Given the description of an element on the screen output the (x, y) to click on. 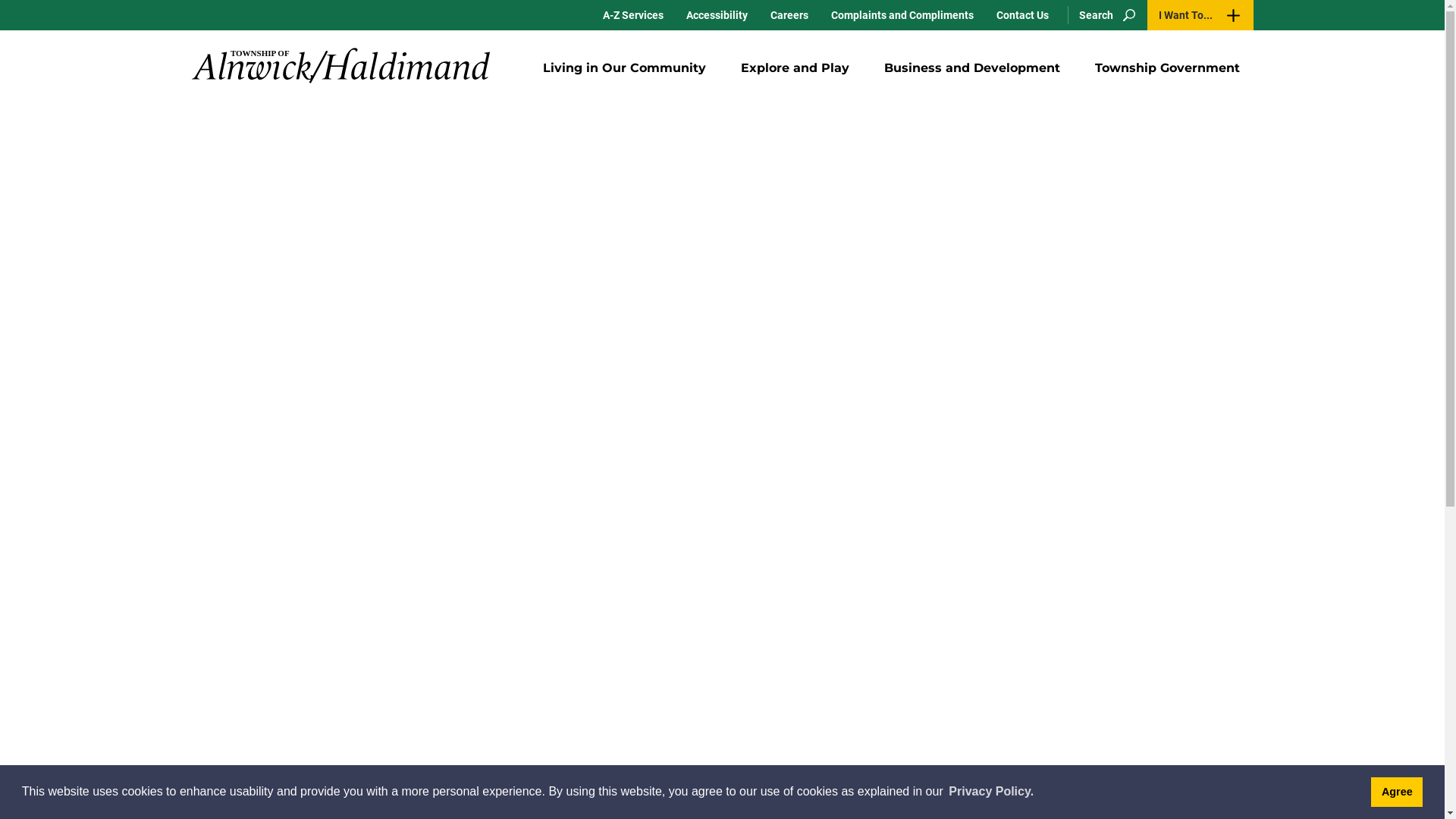
Agree Element type: text (1396, 791)
Search Element type: text (1103, 15)
Accessibility Element type: text (716, 14)
Click to return to the homepage Element type: hover (340, 65)
A-Z Services Element type: text (632, 14)
Careers Element type: text (789, 14)
Skip to Content Element type: text (0, 0)
Explore and Play Element type: text (794, 68)
Living in Our Community Element type: text (624, 68)
Continue Element type: text (239, 104)
Contact Us Element type: text (1022, 14)
Business and Development Element type: text (971, 68)
Complaints and Compliments Element type: text (902, 14)
Township Government Element type: text (1167, 68)
Privacy Policy. Element type: text (990, 791)
I Want To... Element type: text (1200, 15)
